Given the description of an element on the screen output the (x, y) to click on. 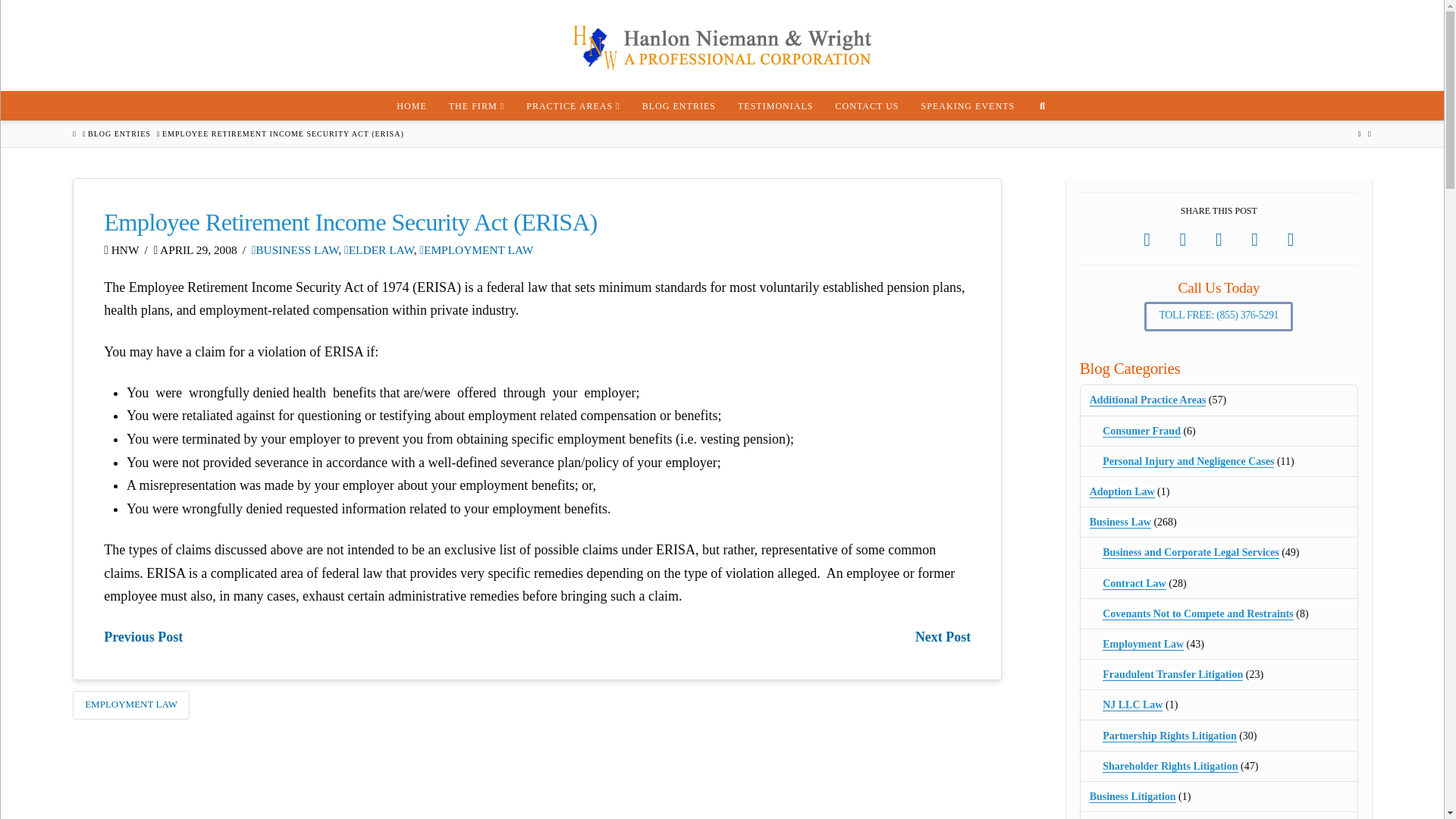
CONTACT US (867, 104)
You Are Here (282, 133)
Share on LinkedIn (1219, 239)
BLOG ENTRIES (678, 104)
Share on Pinterest (1254, 239)
TESTIMONIALS (775, 104)
Share via Email (1290, 239)
Share on Twitter (1182, 239)
Share on Facebook (1146, 239)
PRACTICE AREAS (572, 104)
